Given the description of an element on the screen output the (x, y) to click on. 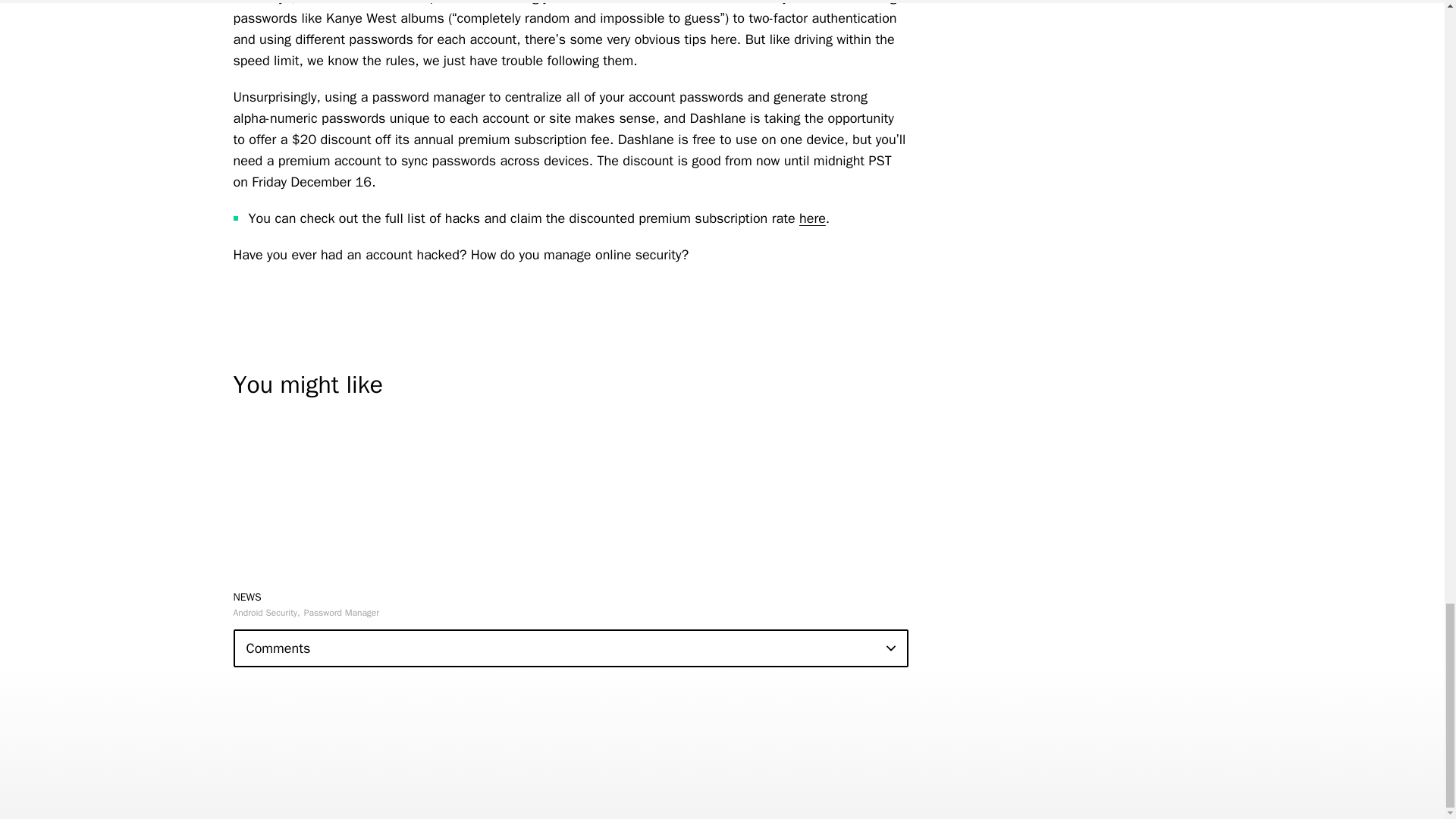
Android Security (265, 612)
Comments (570, 648)
here (812, 217)
Password Manager (341, 612)
NEWS (247, 596)
